Given the description of an element on the screen output the (x, y) to click on. 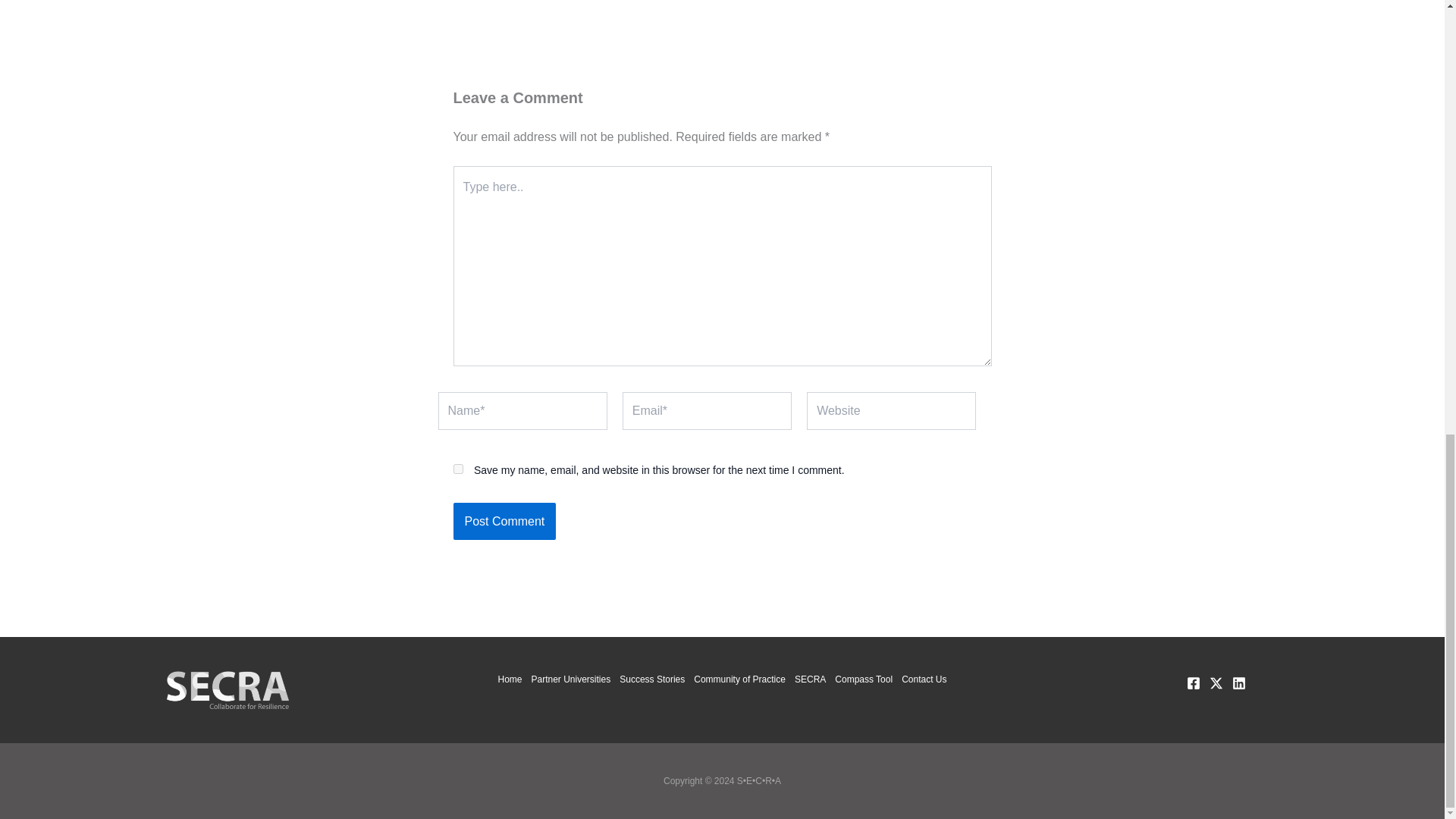
Compass Tool (862, 678)
Partner Universities (569, 678)
Community of Practice (739, 678)
Success Stories (651, 678)
Post Comment (504, 521)
SECRA (809, 678)
Contact Us (921, 678)
yes (457, 469)
Post Comment (504, 521)
Home (511, 678)
